Given the description of an element on the screen output the (x, y) to click on. 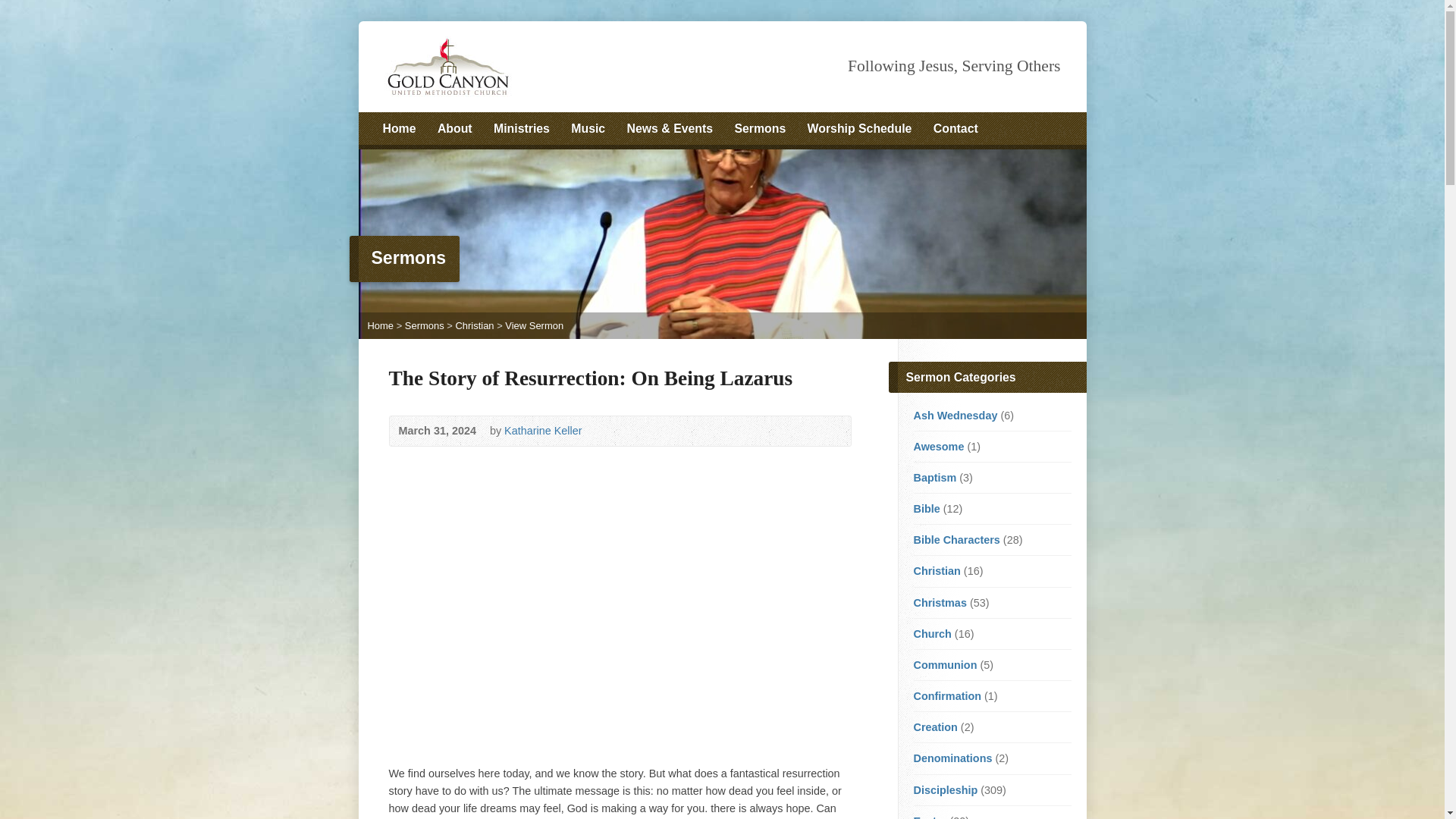
Music (587, 128)
Worship Schedule (860, 128)
Contact (955, 128)
Home (379, 325)
Katharine Keller (541, 430)
Ministries (521, 128)
Sermons (759, 128)
Christian (473, 325)
About (454, 128)
View Sermon (534, 325)
Sermons (424, 325)
Home (397, 128)
